Given the description of an element on the screen output the (x, y) to click on. 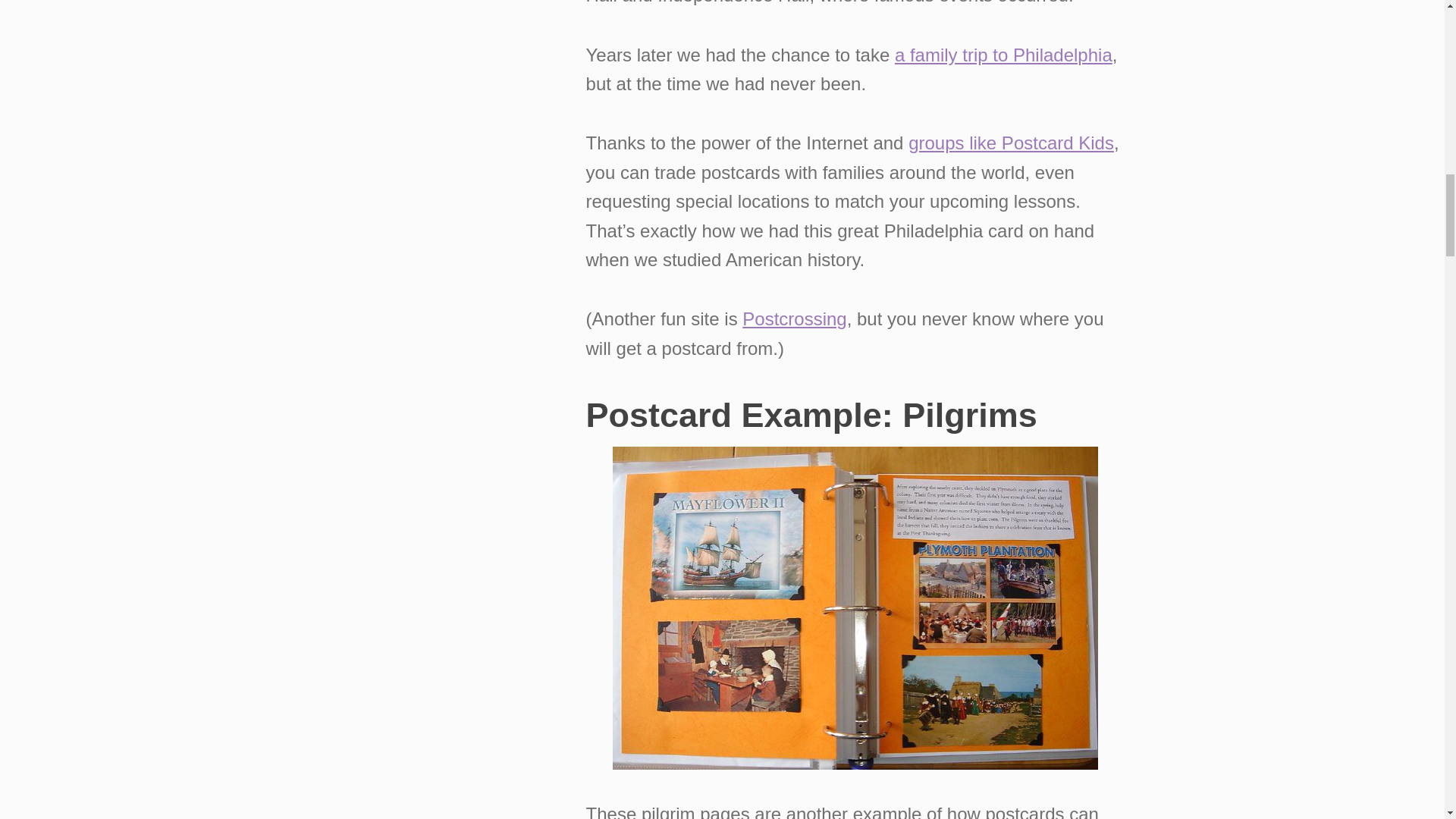
groups like Postcard Kids (1010, 142)
a family trip to Philadelphia (1003, 55)
